Given the description of an element on the screen output the (x, y) to click on. 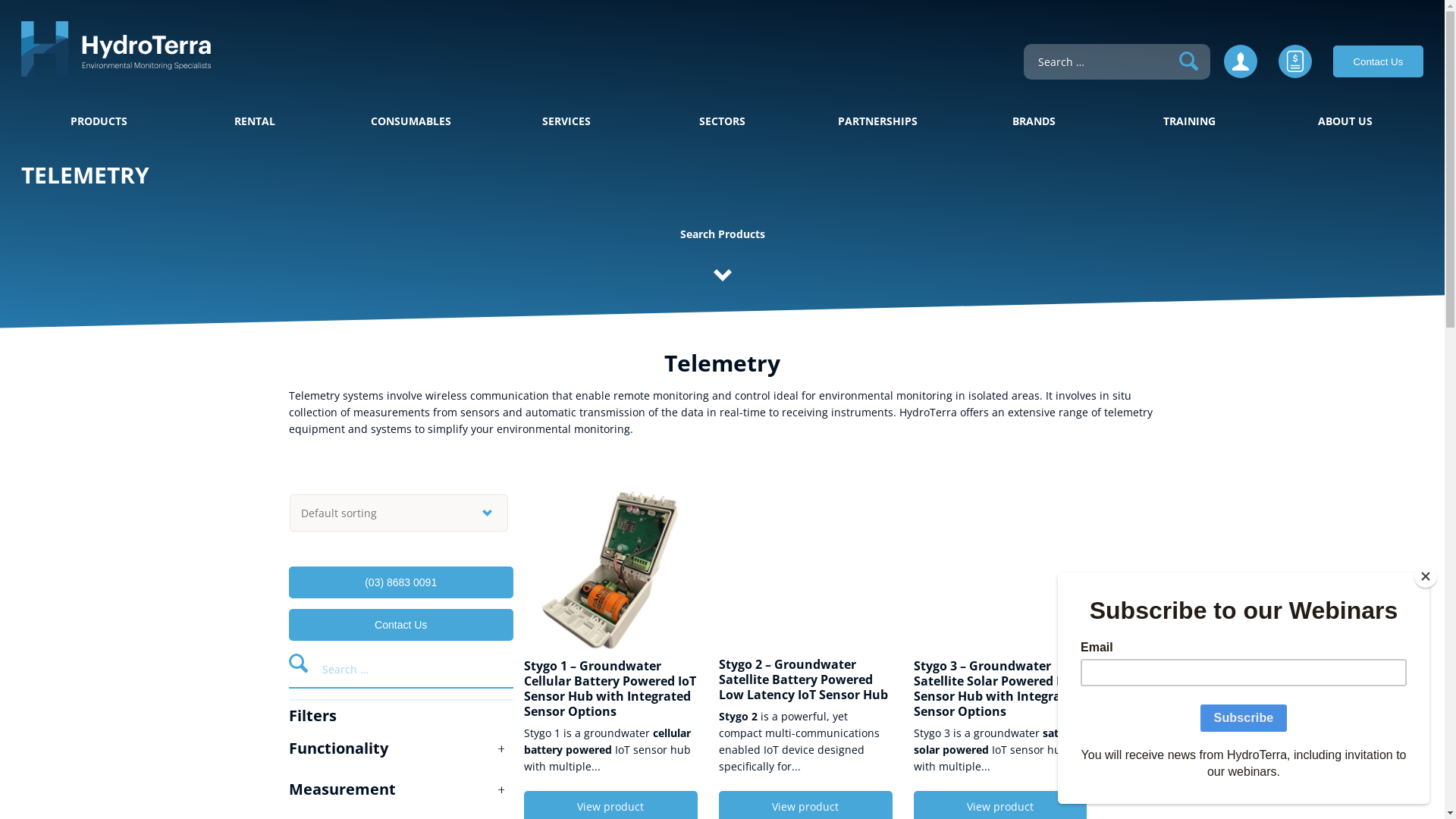
Search for: Element type: hover (1103, 61)
CONSUMABLES Element type: text (410, 120)
Request a Quote Element type: hover (1294, 73)
SERVICES Element type: text (566, 120)
Contact Us Element type: text (400, 624)
PARTNERSHIPS Element type: text (877, 120)
Contact Us Element type: text (1378, 61)
Contact Us Element type: text (400, 624)
TRAINING Element type: text (1189, 120)
PRODUCTS Element type: text (98, 120)
SECTORS Element type: text (722, 120)
ABOUT US Element type: text (1344, 120)
BRANDS Element type: text (1033, 120)
RENTAL Element type: text (254, 120)
Search for: Element type: hover (410, 668)
Home Element type: hover (115, 72)
(03) 8683 0091 Element type: text (400, 581)
(03) 8683 0091 Element type: text (400, 582)
My Account Element type: hover (1240, 73)
